Given the description of an element on the screen output the (x, y) to click on. 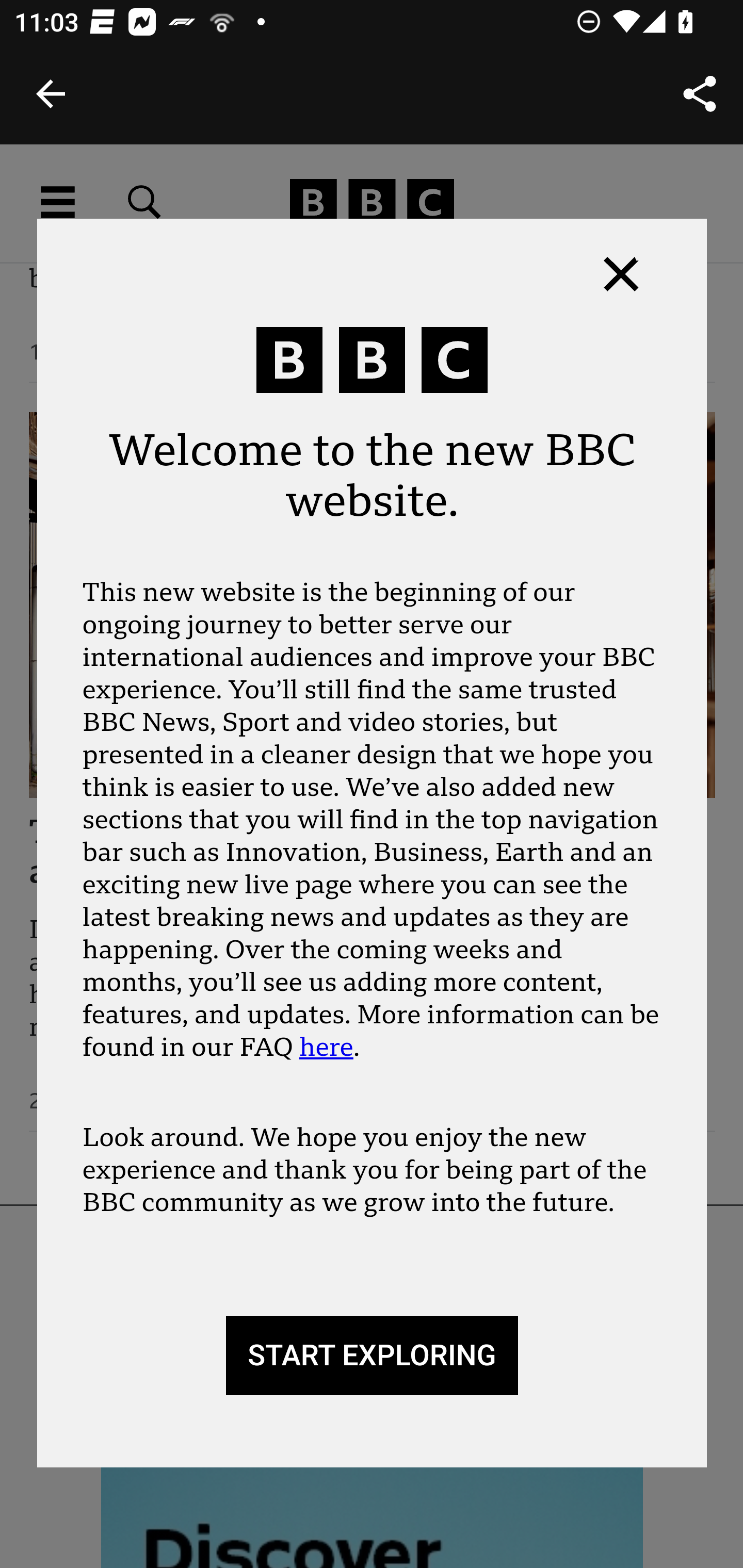
Back (50, 93)
Share (699, 93)
here (325, 1046)
START EXPLORING (371, 1356)
